Given the description of an element on the screen output the (x, y) to click on. 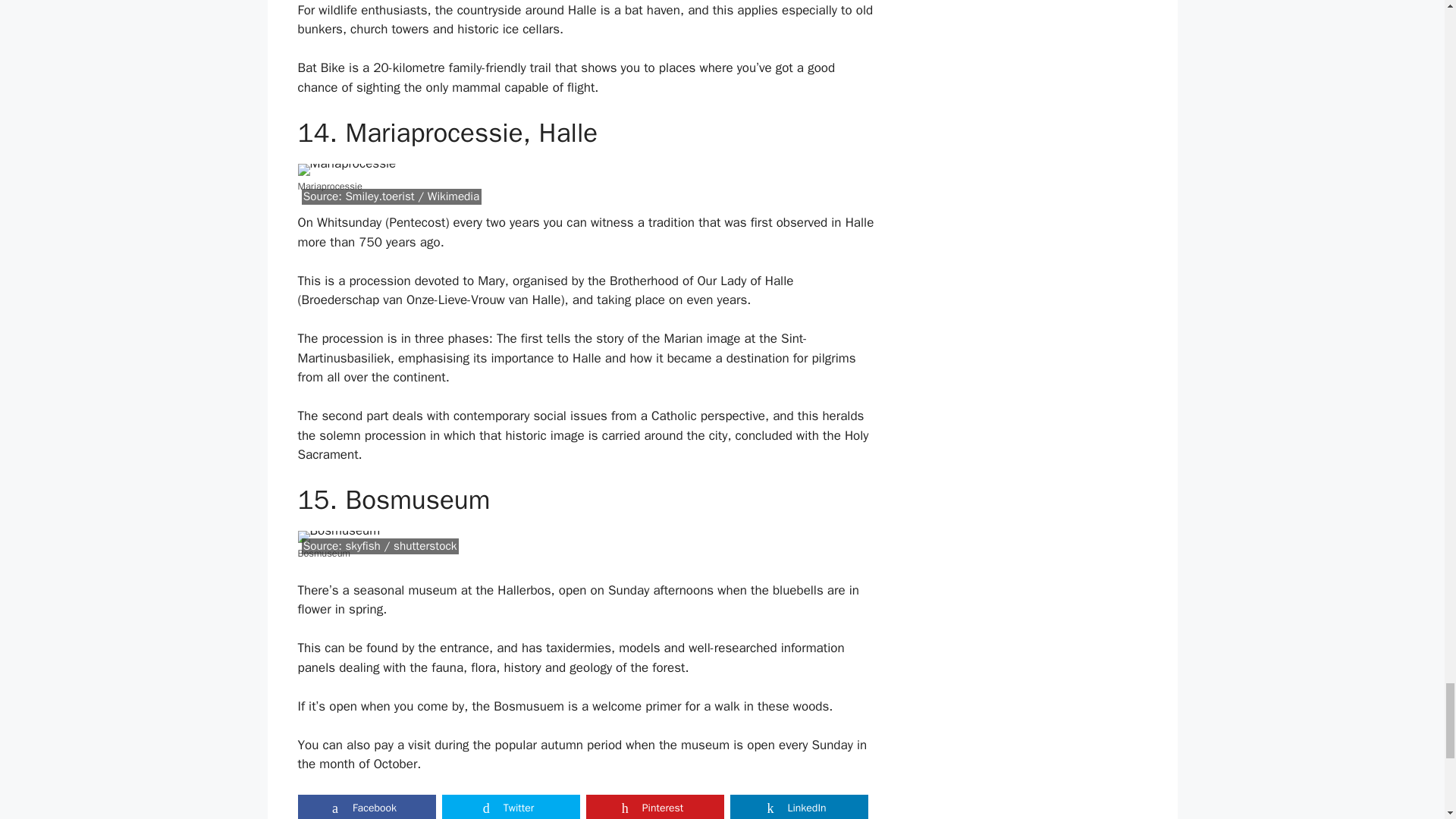
Share on Pinterest (654, 806)
Share on Facebook (366, 806)
Share on Twitter (510, 806)
Share on LinkedIn (798, 806)
